Given the description of an element on the screen output the (x, y) to click on. 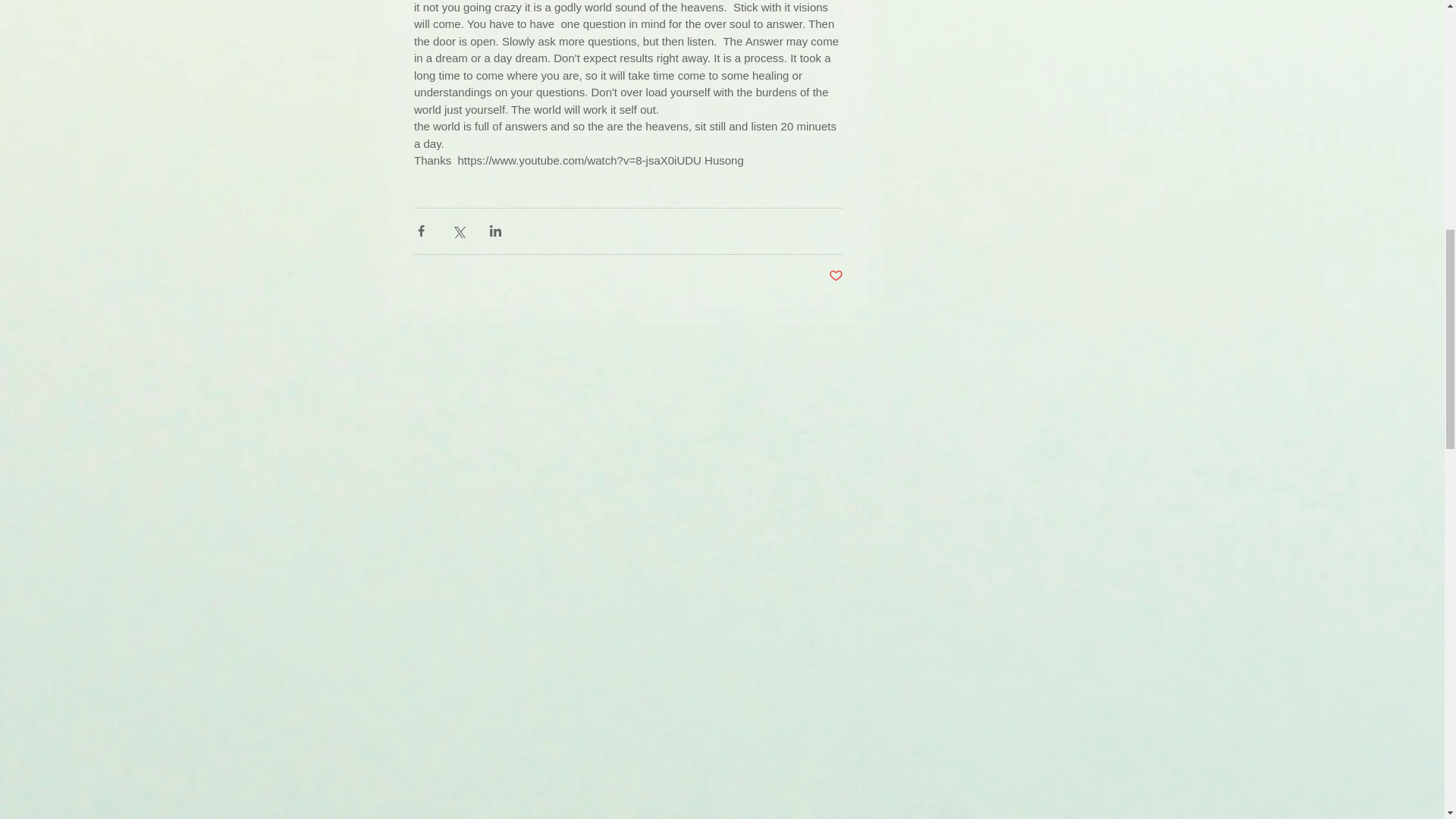
Post not marked as liked (835, 276)
